Given the description of an element on the screen output the (x, y) to click on. 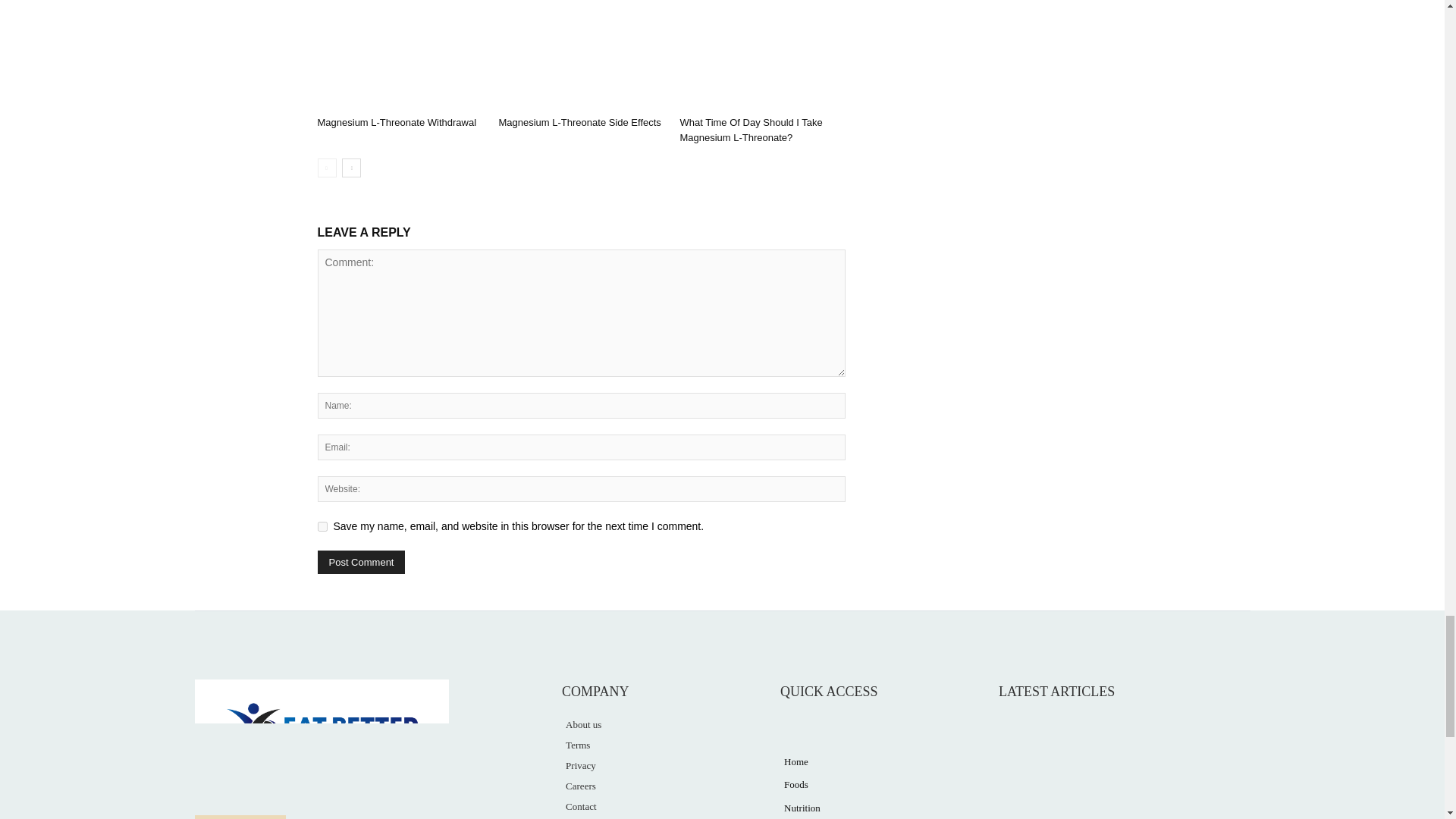
yes (321, 526)
Post Comment (360, 562)
